Given the description of an element on the screen output the (x, y) to click on. 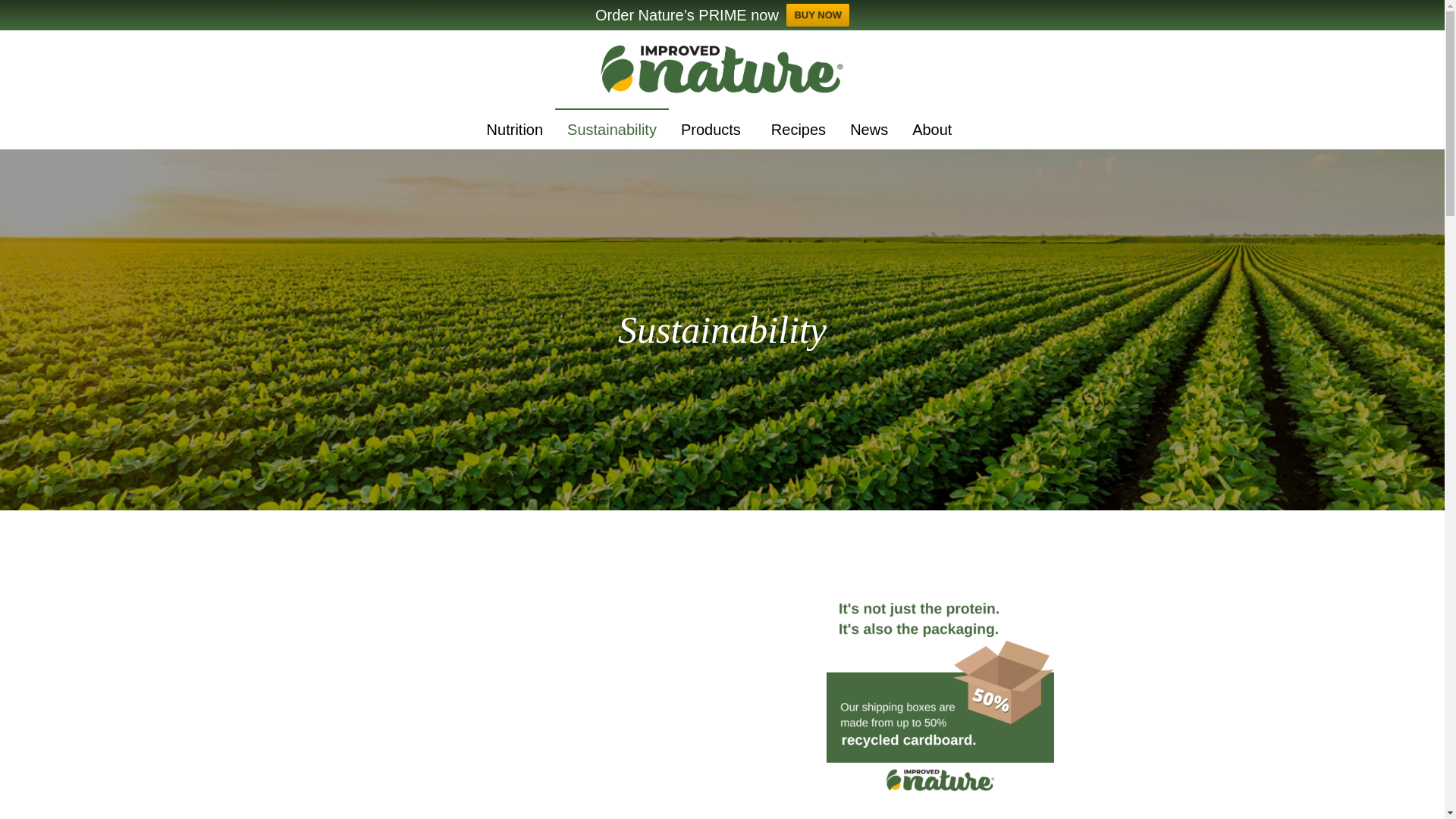
Improved Nature (721, 69)
BUY NOW (817, 15)
Products (713, 128)
About (934, 128)
News (868, 128)
Recipes (798, 128)
Sustainability (611, 128)
Nutrition (514, 128)
